Given the description of an element on the screen output the (x, y) to click on. 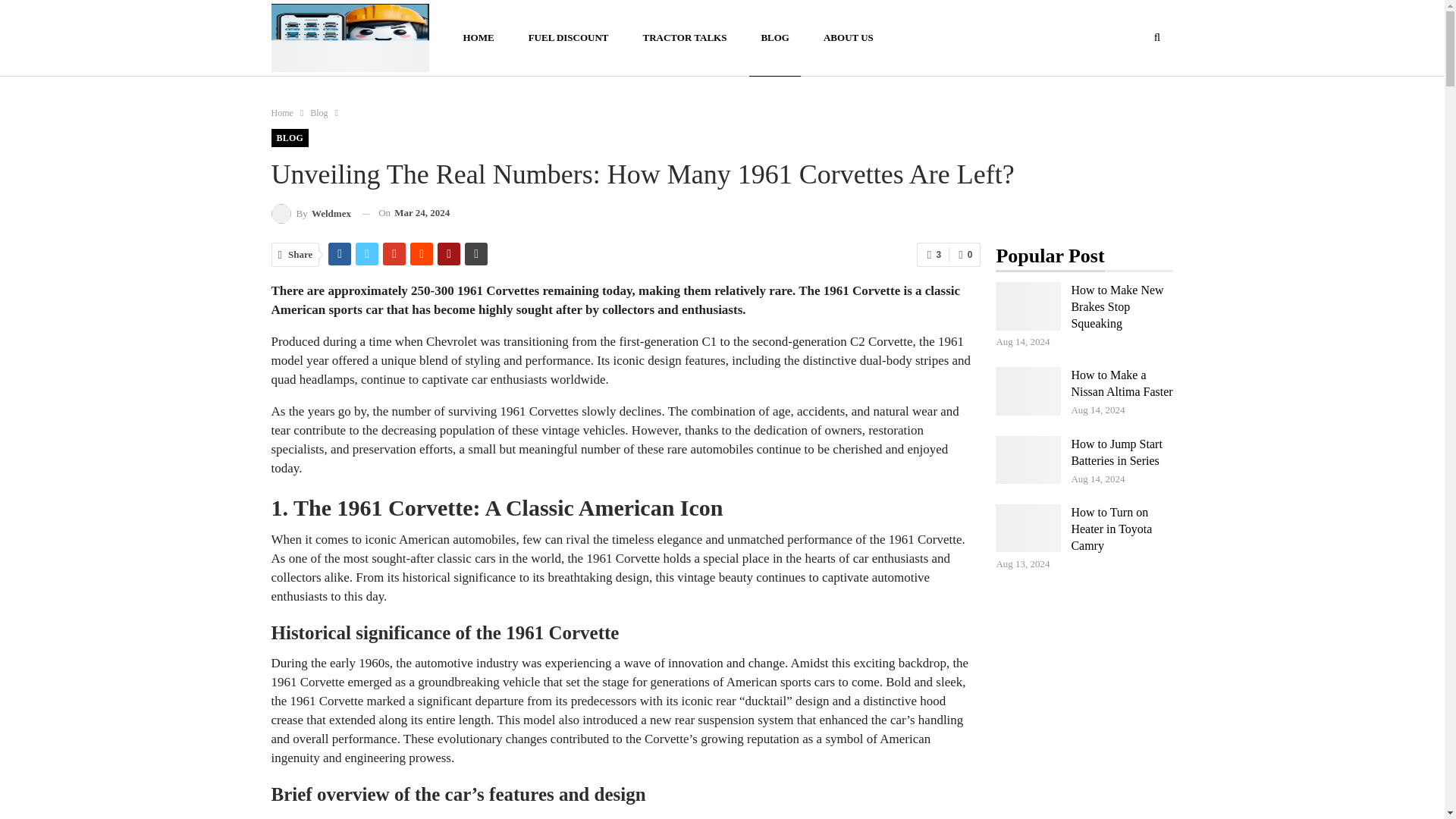
ABOUT US (848, 38)
BLOG (289, 137)
Browse Author Articles (310, 213)
0 (964, 254)
TRACTOR TALKS (684, 38)
FUEL DISCOUNT (568, 38)
Blog (318, 112)
By Weldmex (310, 213)
Home (282, 112)
